Given the description of an element on the screen output the (x, y) to click on. 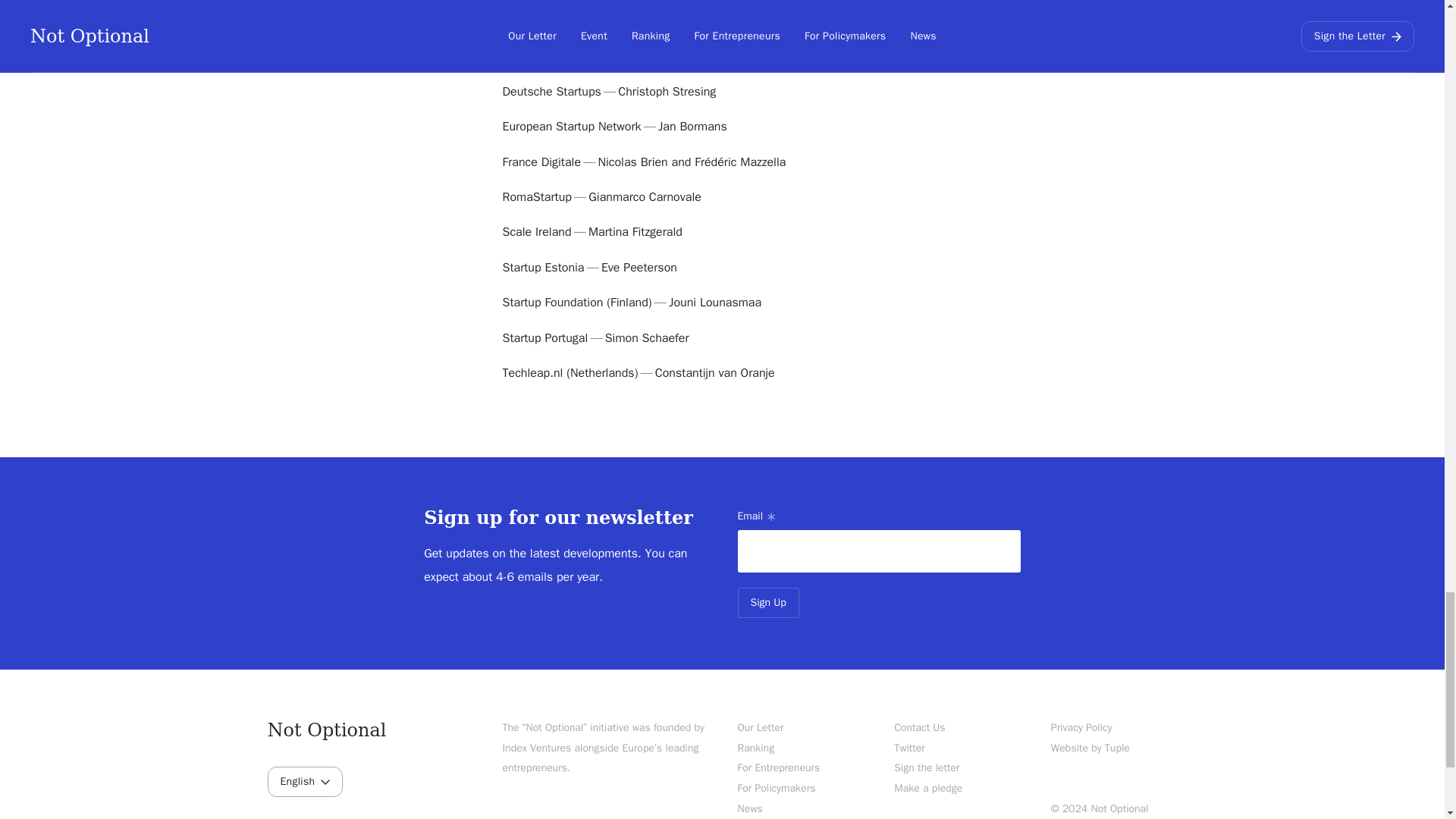
Ranking (755, 748)
Twitter (908, 748)
For Entrepreneurs (777, 767)
Website by Tuple (1090, 748)
Privacy Policy (1081, 727)
Index Ventures (536, 748)
Make a pledge (927, 788)
Contact Us (918, 727)
Sign the letter (926, 767)
News (748, 808)
Sign Up (766, 603)
English (304, 781)
Our Letter (759, 727)
For Policymakers (775, 788)
